Given the description of an element on the screen output the (x, y) to click on. 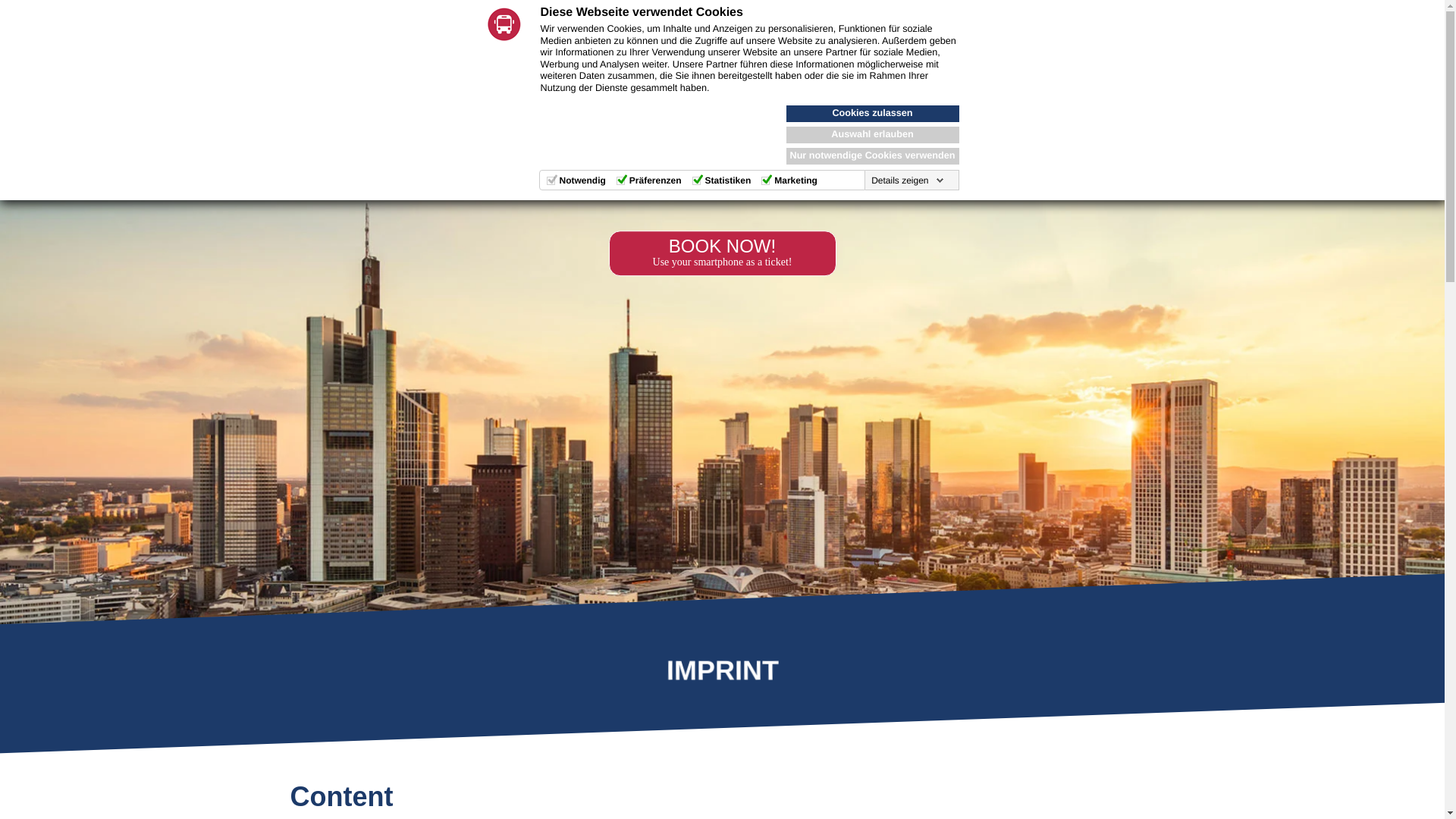
Auswahl erlauben (872, 134)
Cookies zulassen (872, 113)
Book Now (980, 36)
EN (76, 32)
DE (111, 32)
Details zeigen (906, 180)
Nur notwendige Cookies verwenden (872, 156)
